Given the description of an element on the screen output the (x, y) to click on. 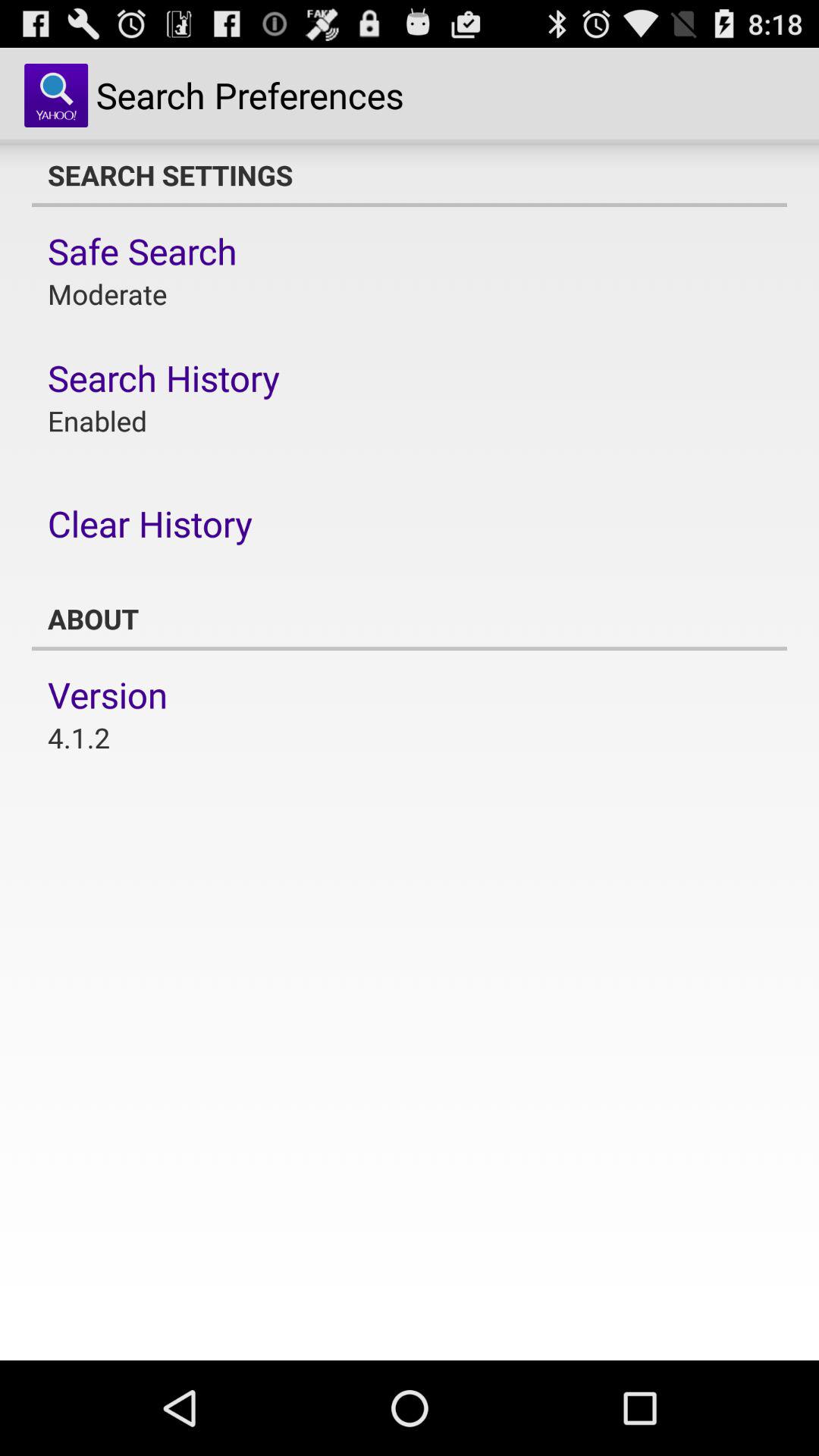
click search settings icon (409, 175)
